Given the description of an element on the screen output the (x, y) to click on. 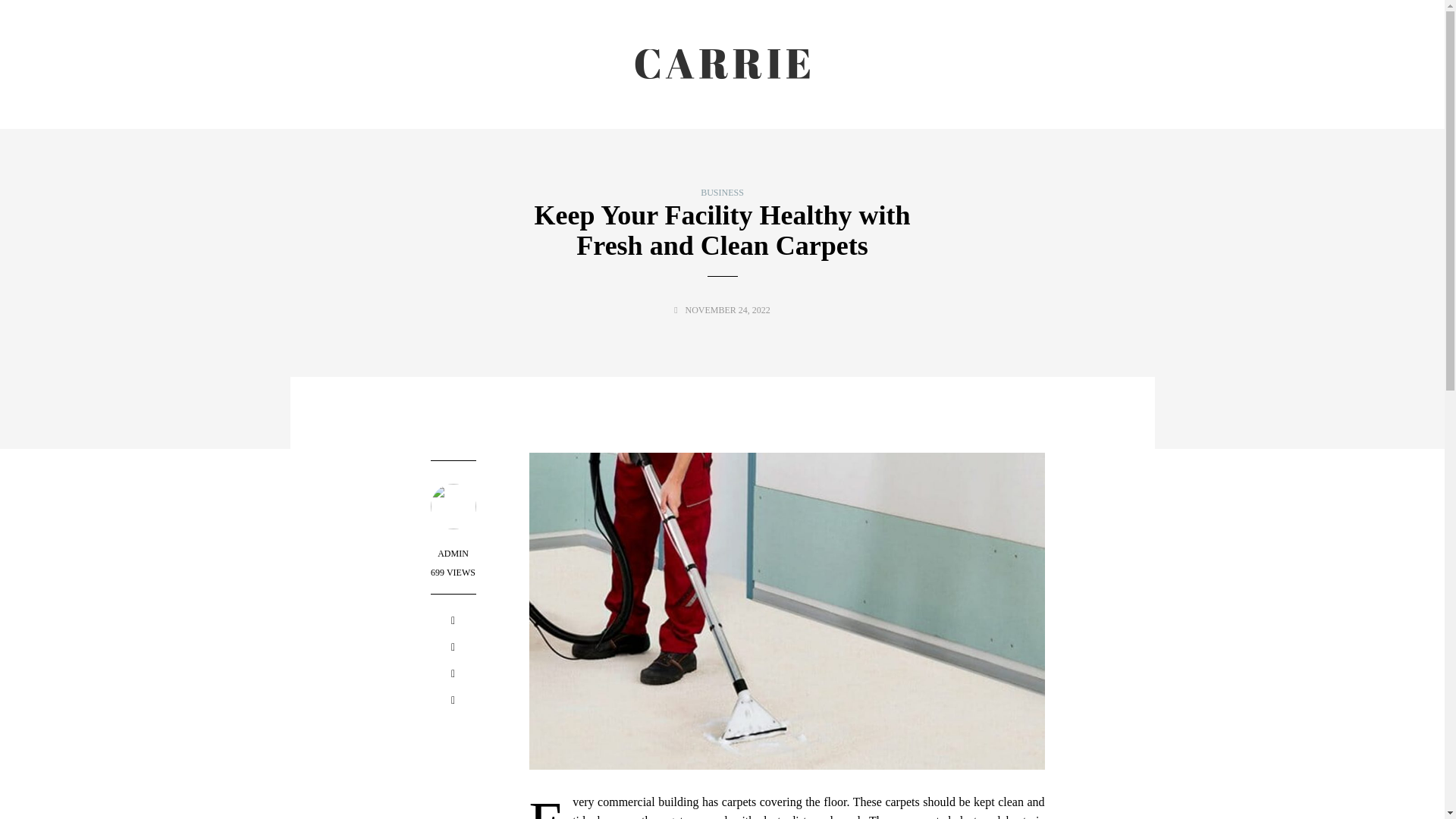
Tweet this (453, 649)
Share with Google Plus (453, 675)
ADMIN (453, 552)
BUSINESS (722, 192)
Share this (453, 622)
Posts by admin (453, 552)
Pin this (453, 701)
